Given the description of an element on the screen output the (x, y) to click on. 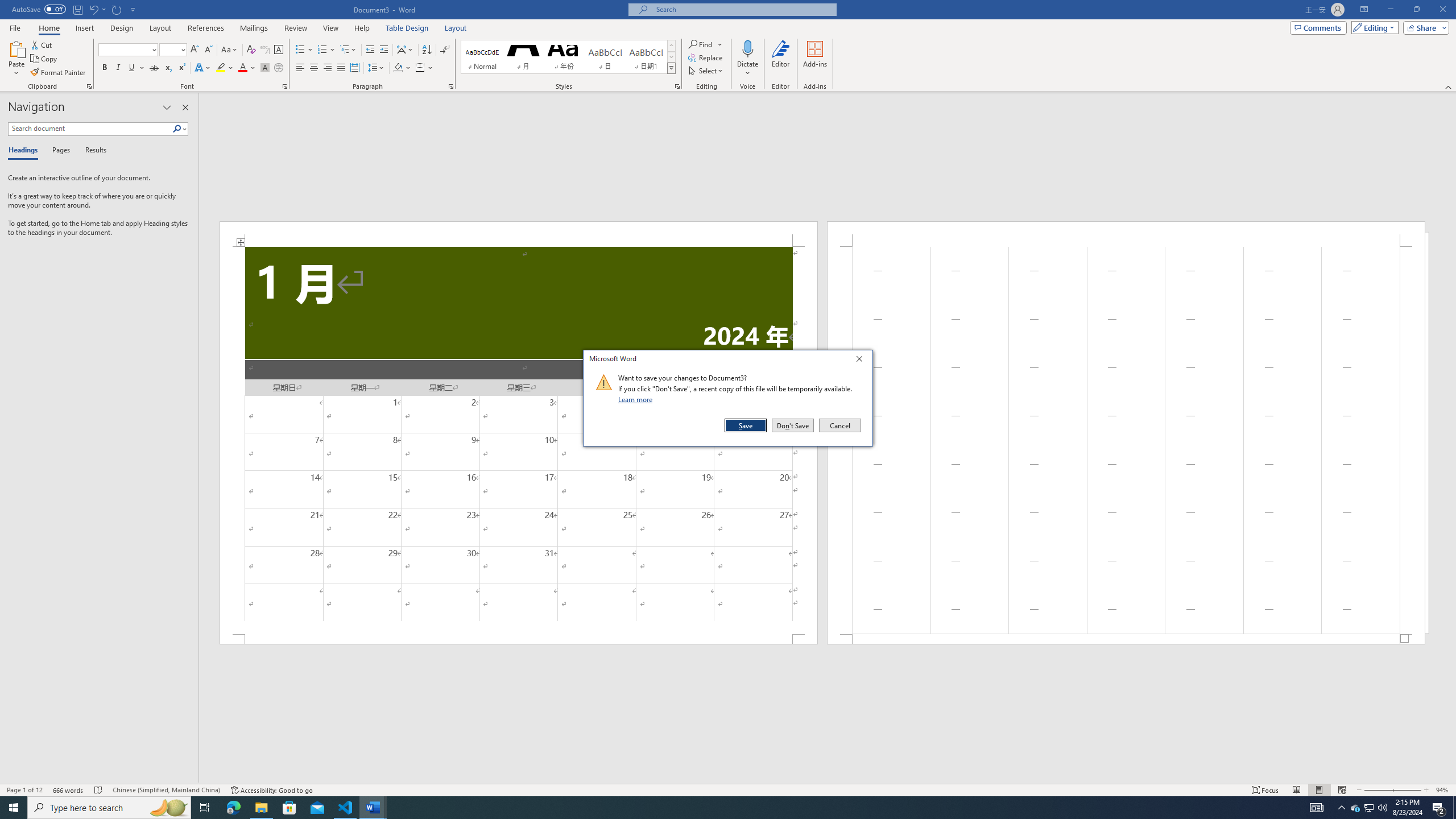
Notification Chevron (1341, 807)
Search document (89, 128)
Show/Hide Editing Marks (444, 49)
Shading (402, 67)
Headings (25, 150)
Footer -Section 1- (1126, 638)
Office Clipboard... (88, 85)
Learn more (636, 399)
